Given the description of an element on the screen output the (x, y) to click on. 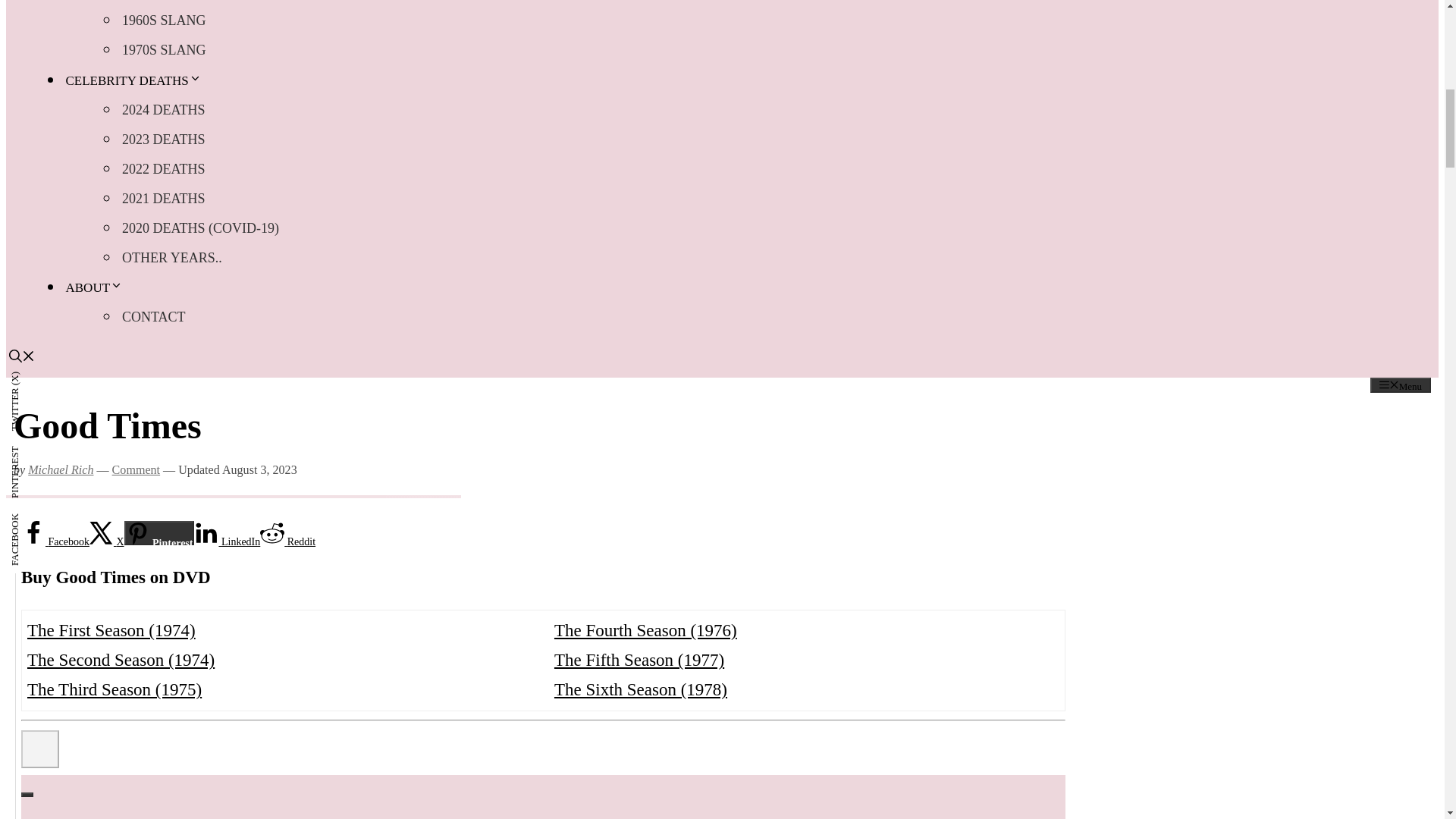
1960S SLANG (164, 20)
OTHER YEARS.. (172, 257)
1950S SLANG (164, 2)
2021 DEATHS (163, 198)
CONTACT (154, 317)
2023 DEATHS (163, 139)
2024 DEATHS (163, 110)
Menu (1400, 385)
1970S SLANG (164, 50)
2022 DEATHS (163, 168)
ABOUT (95, 287)
CELEBRITY DEATHS (134, 80)
